Given the description of an element on the screen output the (x, y) to click on. 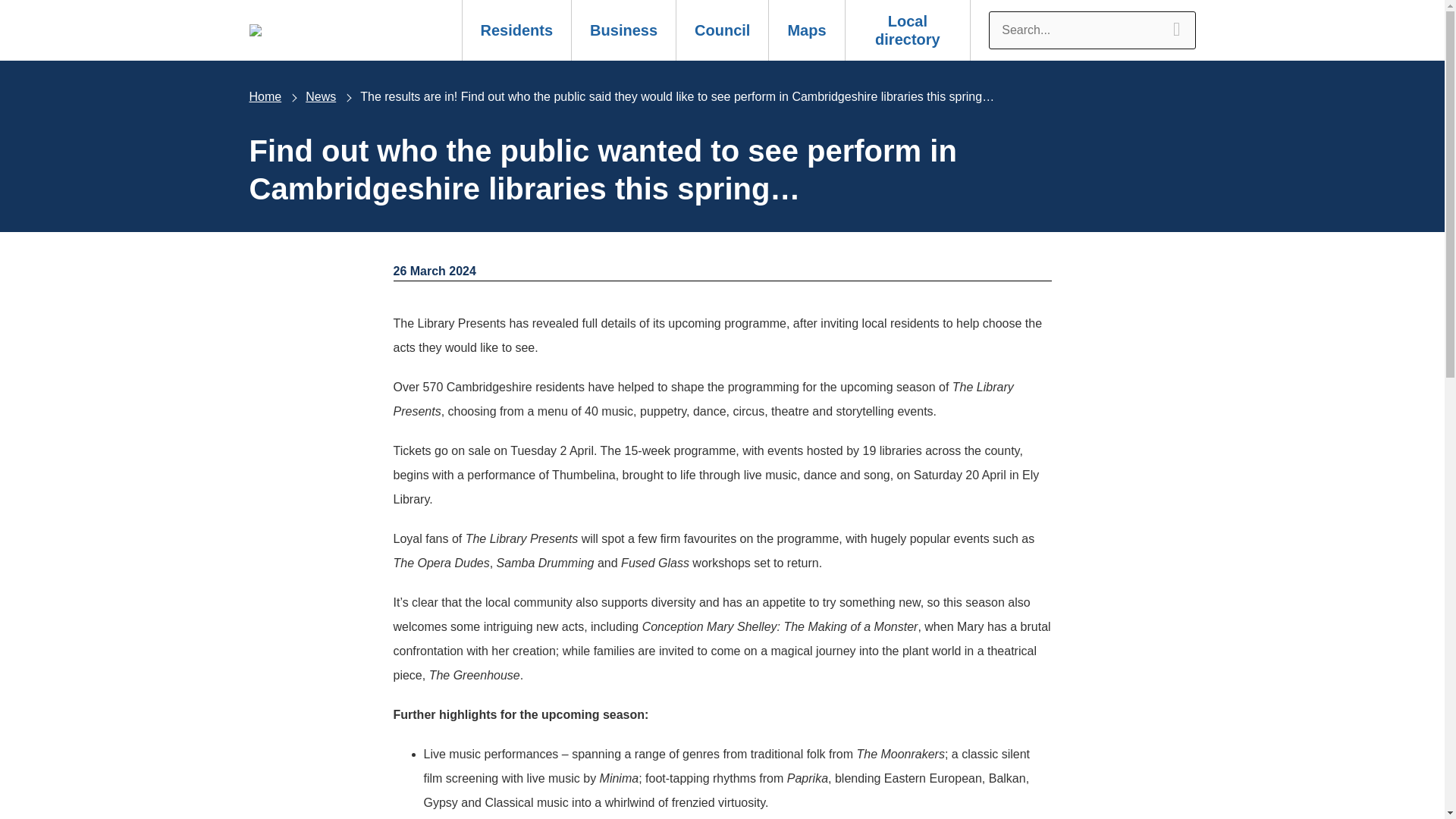
Home (264, 96)
News (320, 96)
Council (721, 30)
Skip to main content (12, 9)
Residents (516, 30)
Business (623, 30)
Maps (806, 30)
Local directory (907, 30)
Search Site (1091, 30)
